Given the description of an element on the screen output the (x, y) to click on. 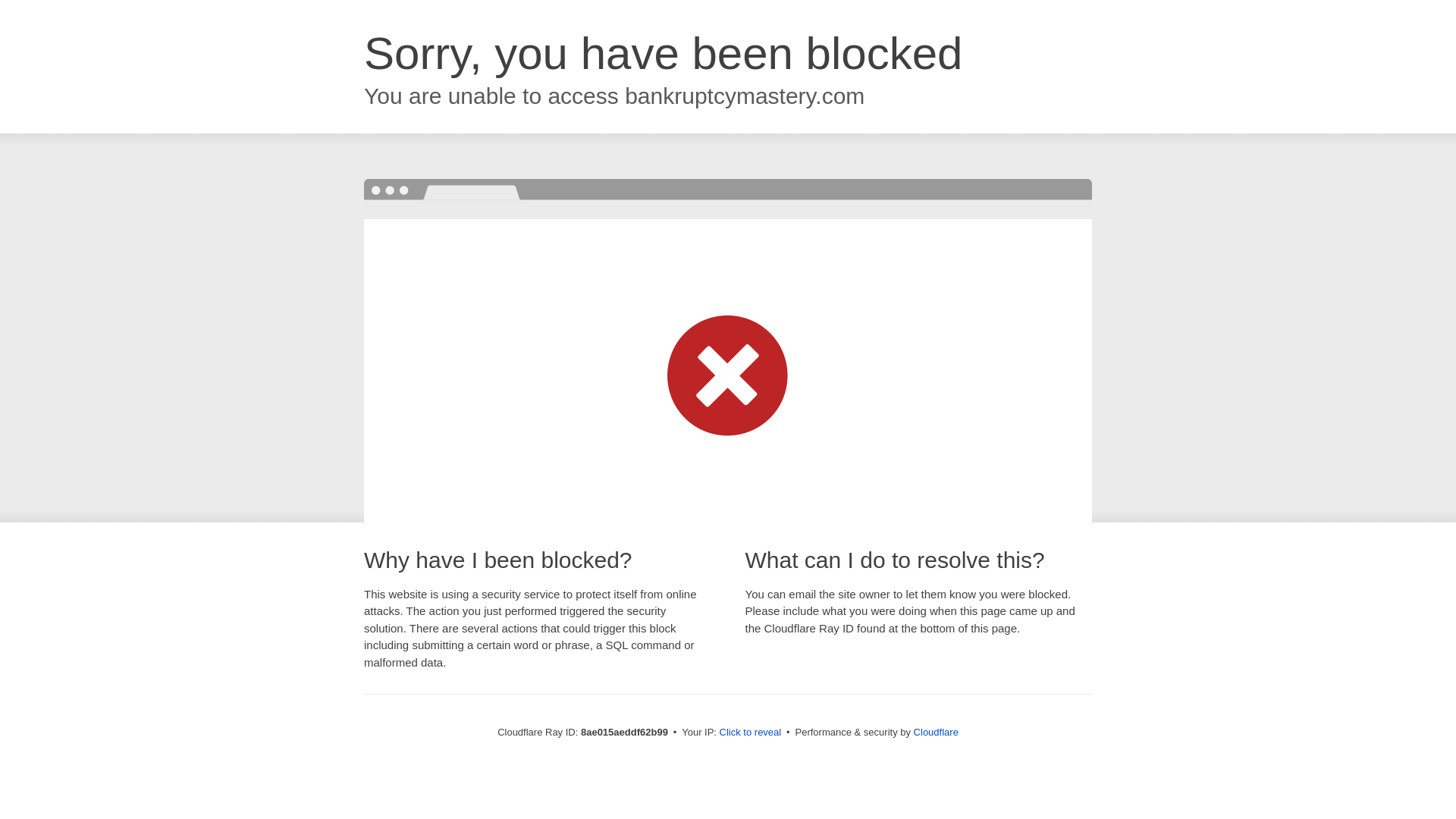
Click to reveal (750, 732)
Cloudflare (936, 731)
